Given the description of an element on the screen output the (x, y) to click on. 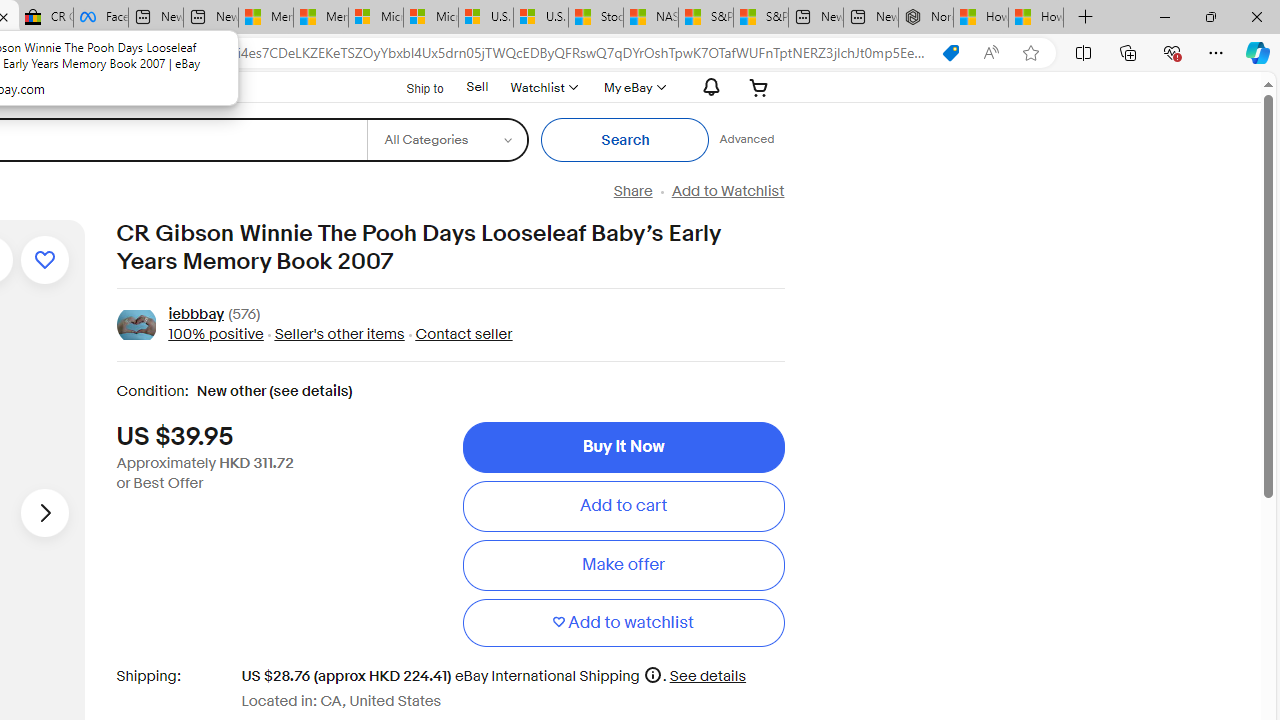
Restore (1210, 16)
